Given the description of an element on the screen output the (x, y) to click on. 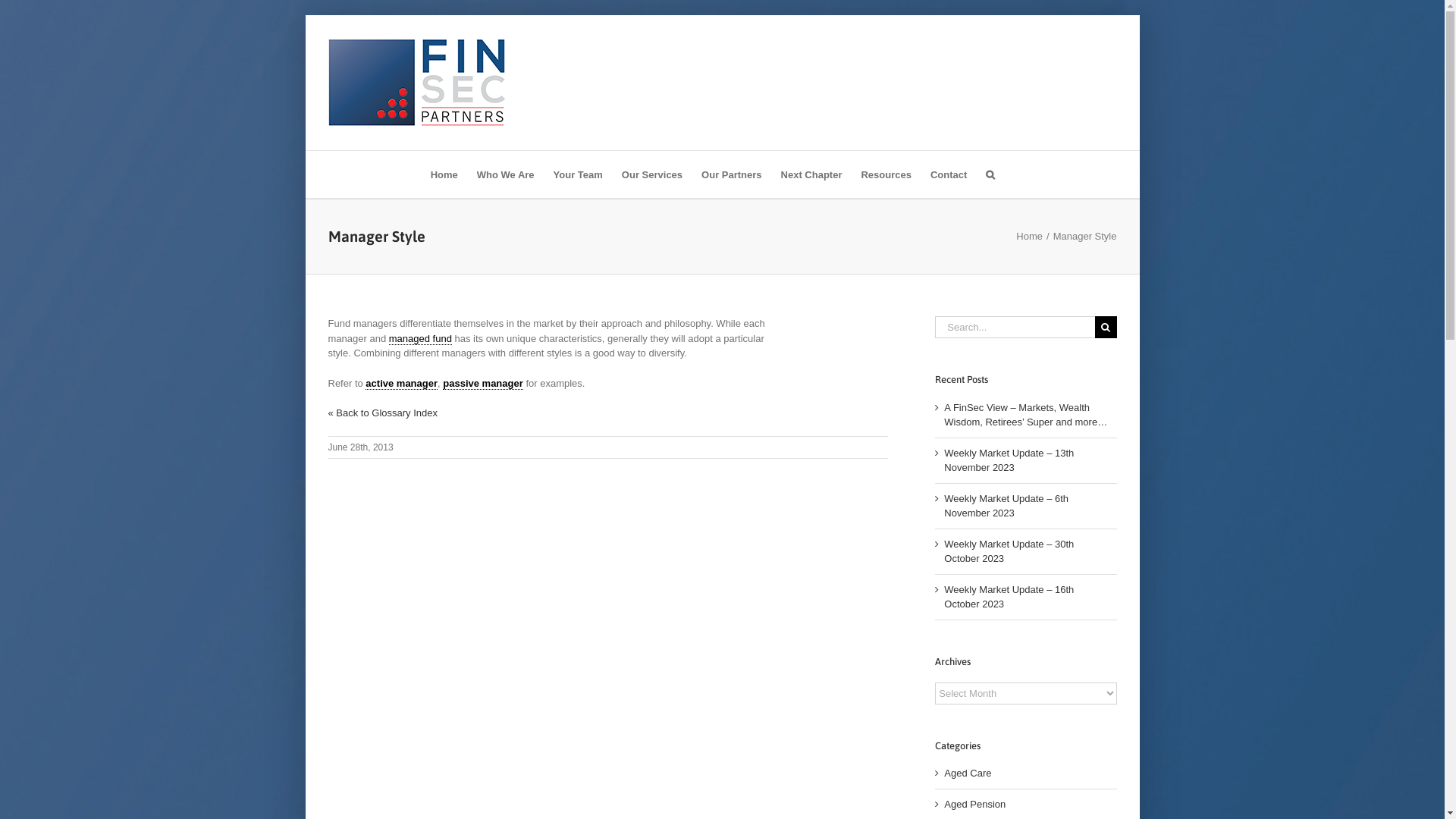
Home Element type: text (444, 173)
active manager Element type: text (401, 383)
Next Chapter Element type: text (811, 173)
Search Element type: hover (989, 173)
Our Partners Element type: text (731, 173)
Your Team Element type: text (577, 173)
Aged Pension Element type: text (1026, 804)
Contact Element type: text (948, 173)
Our Services Element type: text (651, 173)
Aged Care Element type: text (1026, 773)
managed fund Element type: text (420, 338)
Resources Element type: text (885, 173)
Who We Are Element type: text (505, 173)
passive manager Element type: text (482, 383)
Home Element type: text (1029, 235)
